Given the description of an element on the screen output the (x, y) to click on. 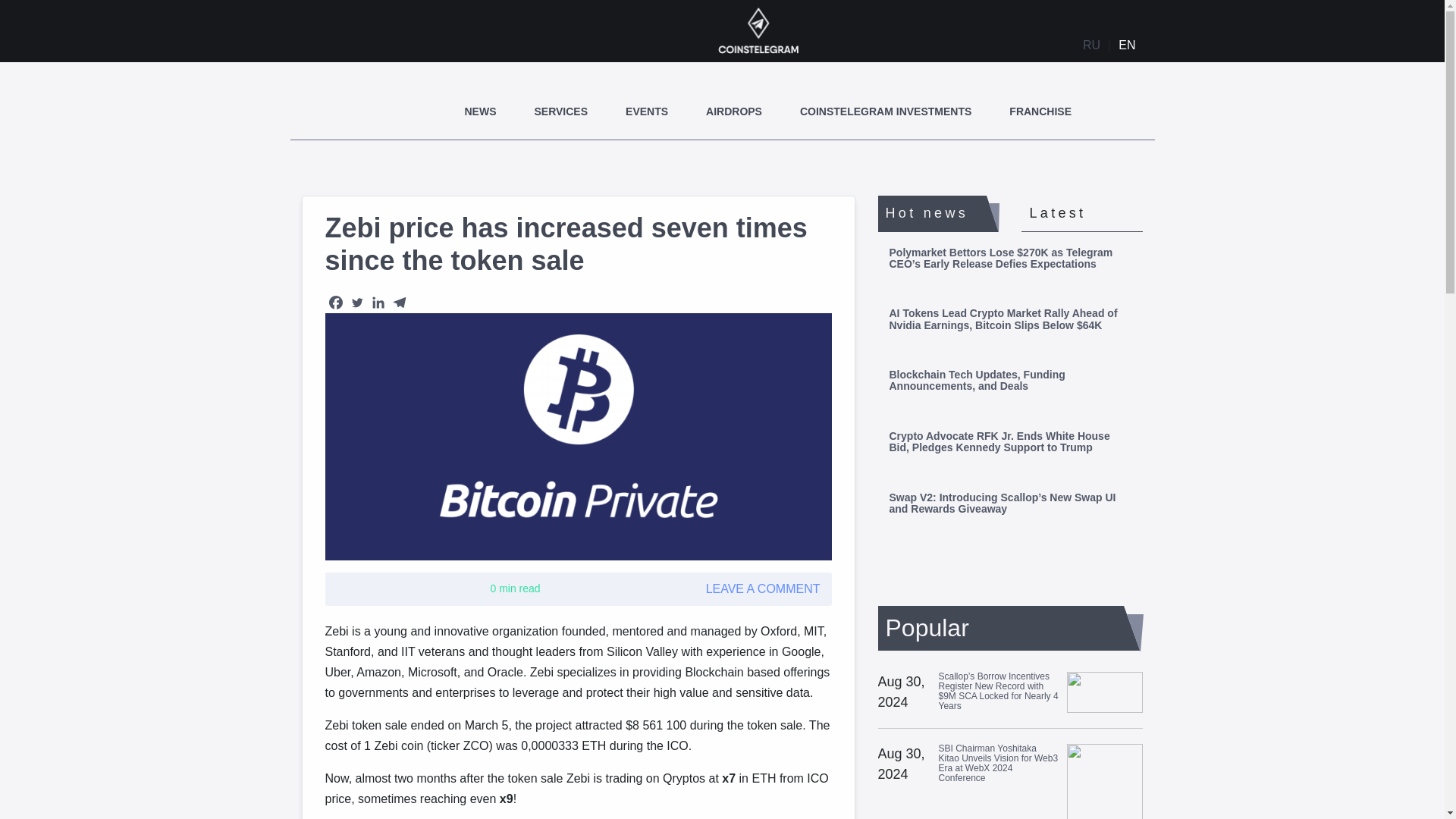
SERVICES (561, 110)
AIRDROPS (733, 110)
RU (1091, 45)
EVENTS (647, 110)
FRANCHISE (1040, 110)
Telegram (398, 302)
NEWS (480, 110)
COINSTELEGRAM INVESTMENTS (885, 110)
Linkedin (377, 302)
EN (1126, 45)
